Given the description of an element on the screen output the (x, y) to click on. 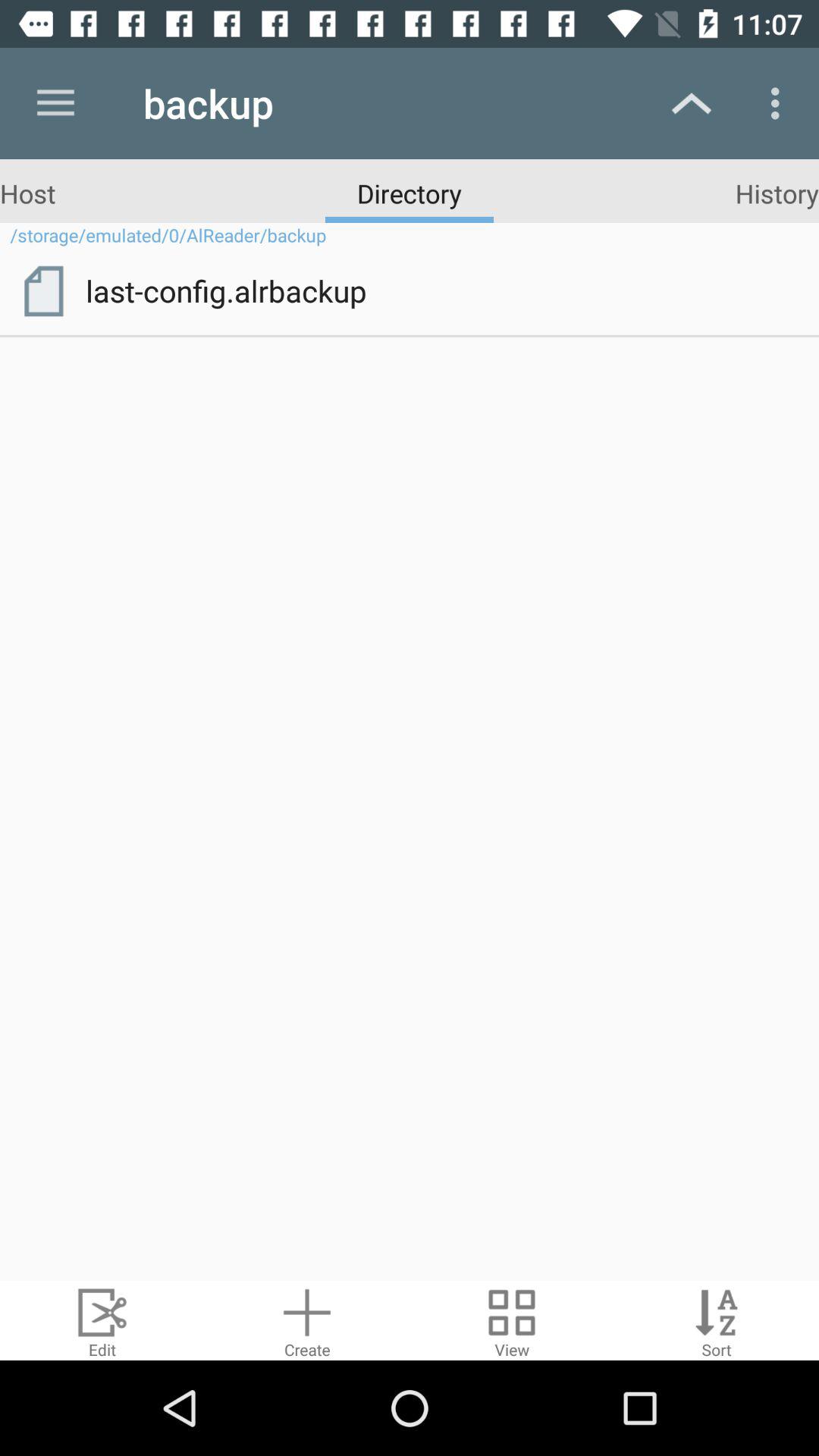
sort alphabetically (716, 1320)
